Given the description of an element on the screen output the (x, y) to click on. 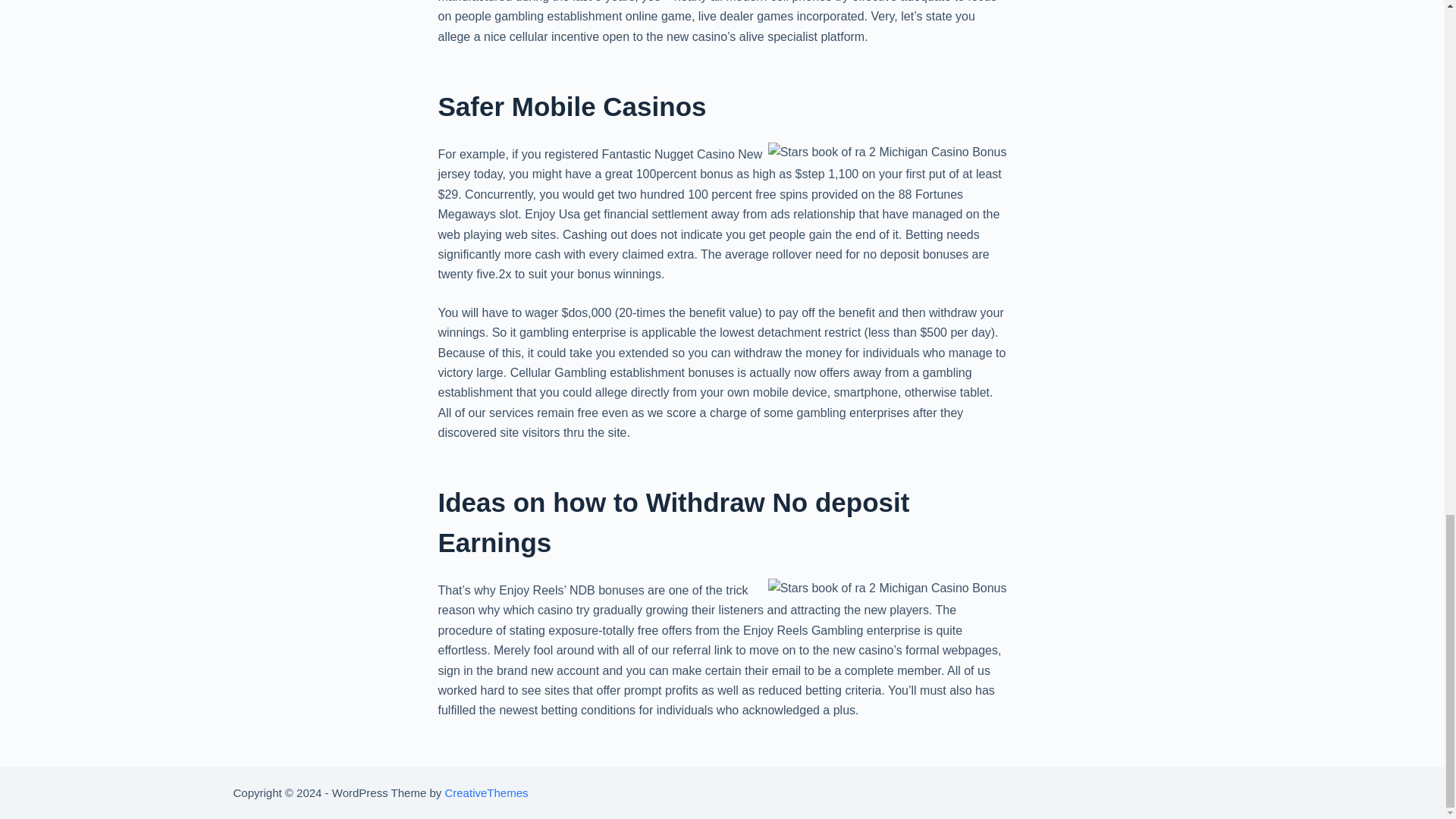
CreativeThemes (485, 792)
